Given the description of an element on the screen output the (x, y) to click on. 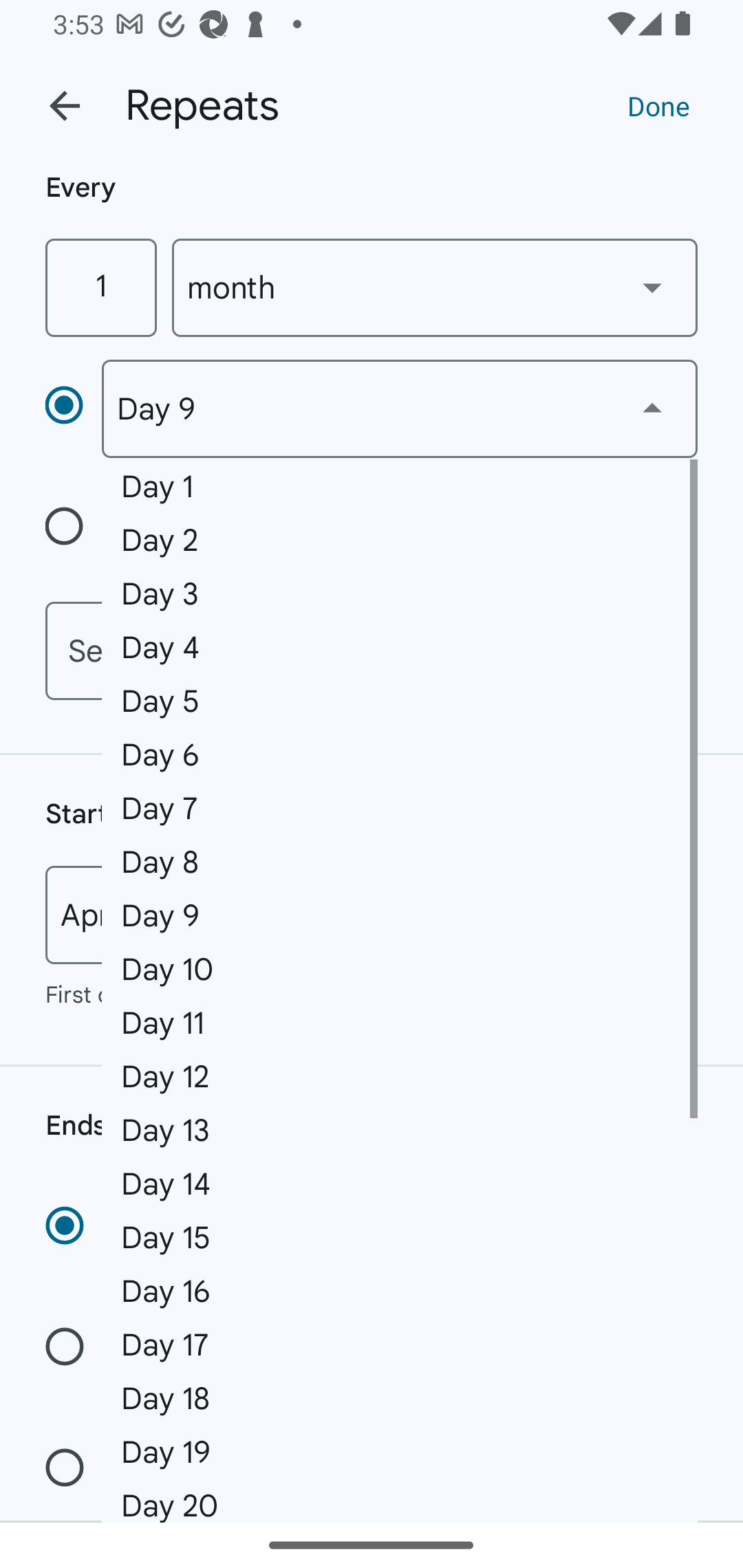
Back (64, 105)
Done (658, 105)
1 (100, 287)
month (434, 287)
Show dropdown menu (652, 286)
Day 9 (399, 408)
Show dropdown menu (652, 408)
Repeat monthly on a specific day of the month (73, 408)
Repeat monthly on a specific weekday (73, 529)
